Given the description of an element on the screen output the (x, y) to click on. 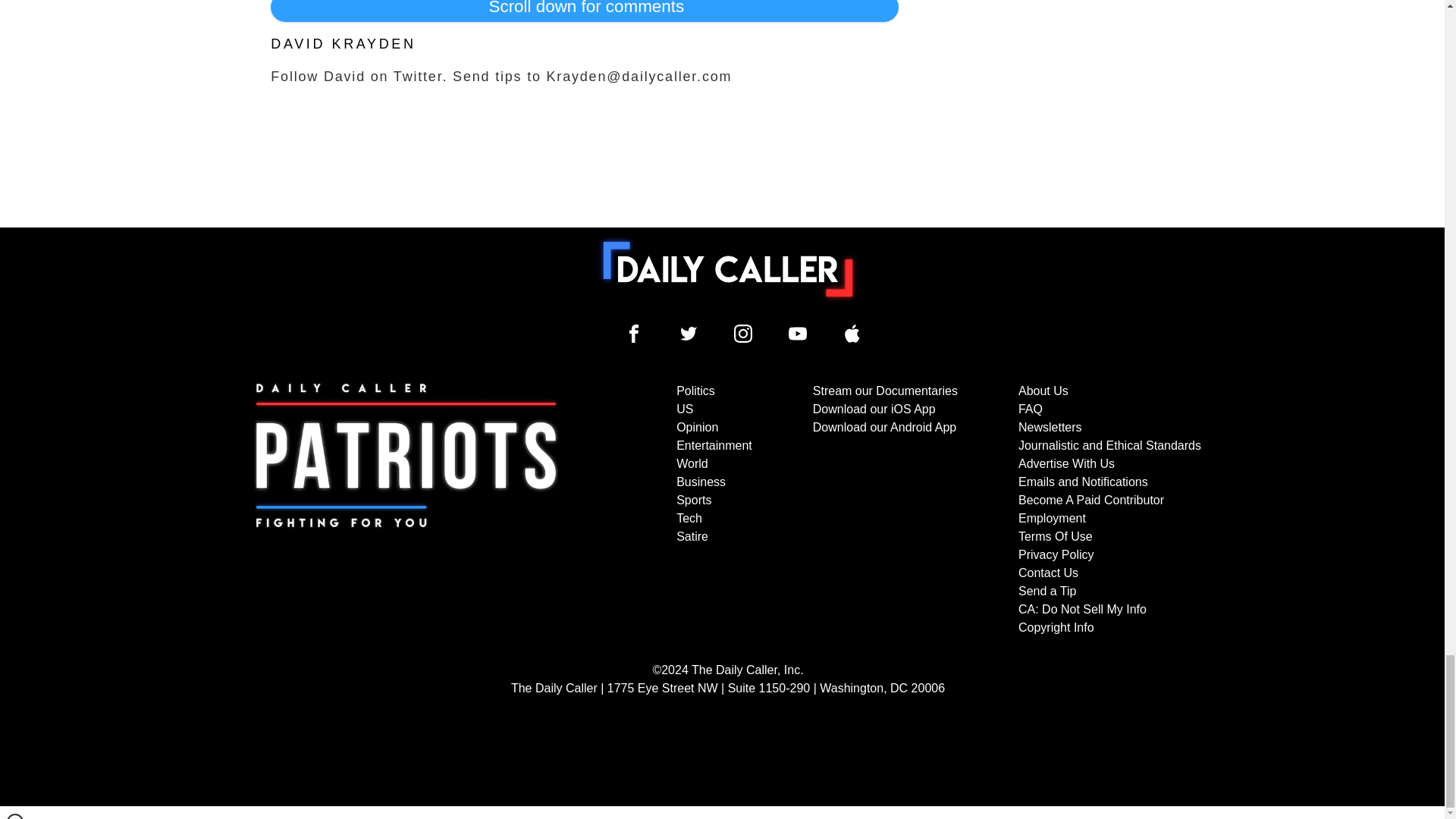
Daily Caller Instagram (742, 333)
Subscribe to The Daily Caller (405, 509)
Daily Caller YouTube (852, 333)
Scroll down for comments (584, 10)
To home page (727, 268)
Daily Caller Facebook (633, 333)
Daily Caller YouTube (797, 333)
Daily Caller Twitter (688, 333)
